Given the description of an element on the screen output the (x, y) to click on. 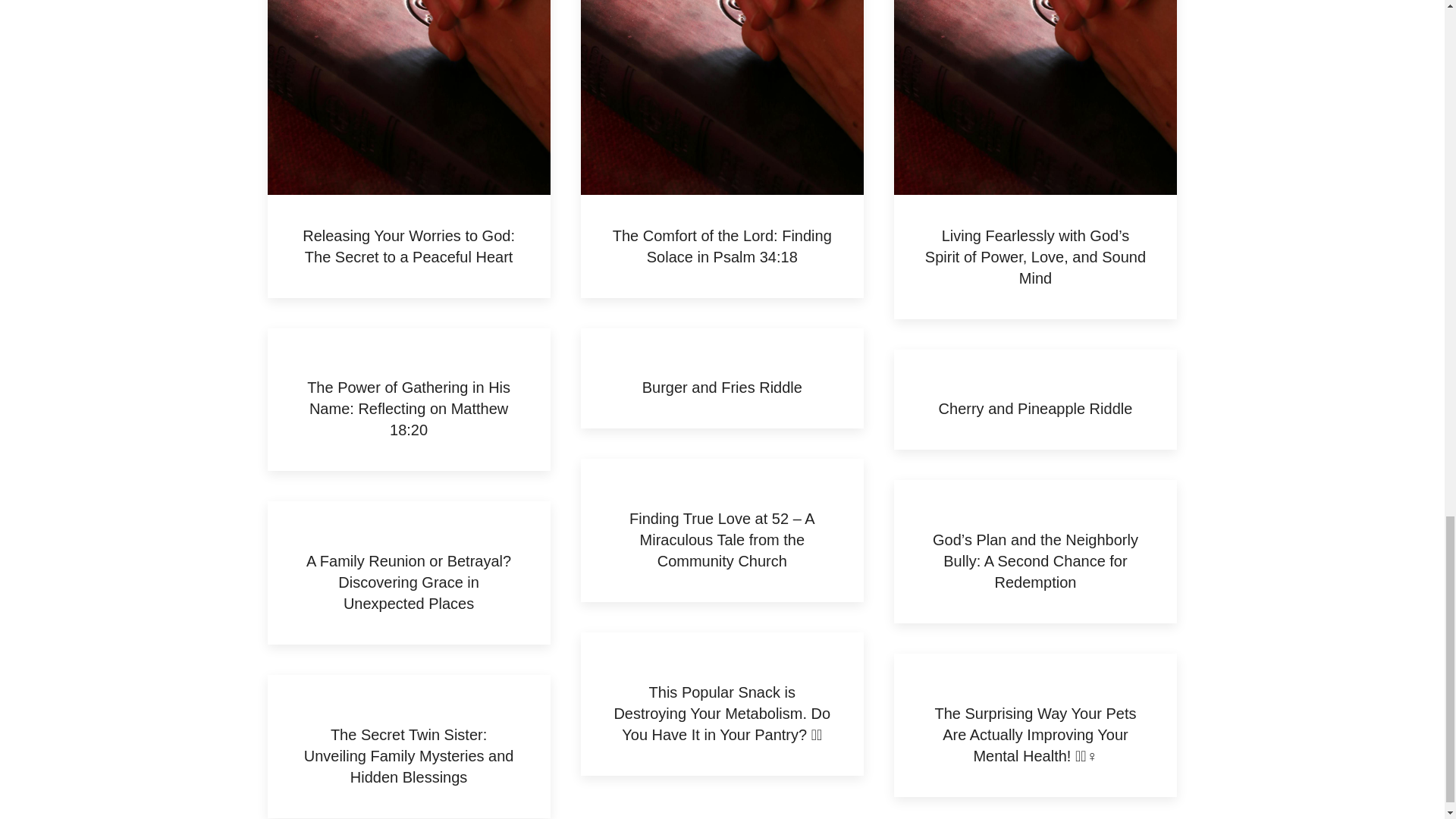
Cherry and Pineapple Riddle (1035, 408)
Burger and Fries Riddle (722, 387)
The Comfort of the Lord: Finding Solace in Psalm 34:18 (721, 246)
